Given the description of an element on the screen output the (x, y) to click on. 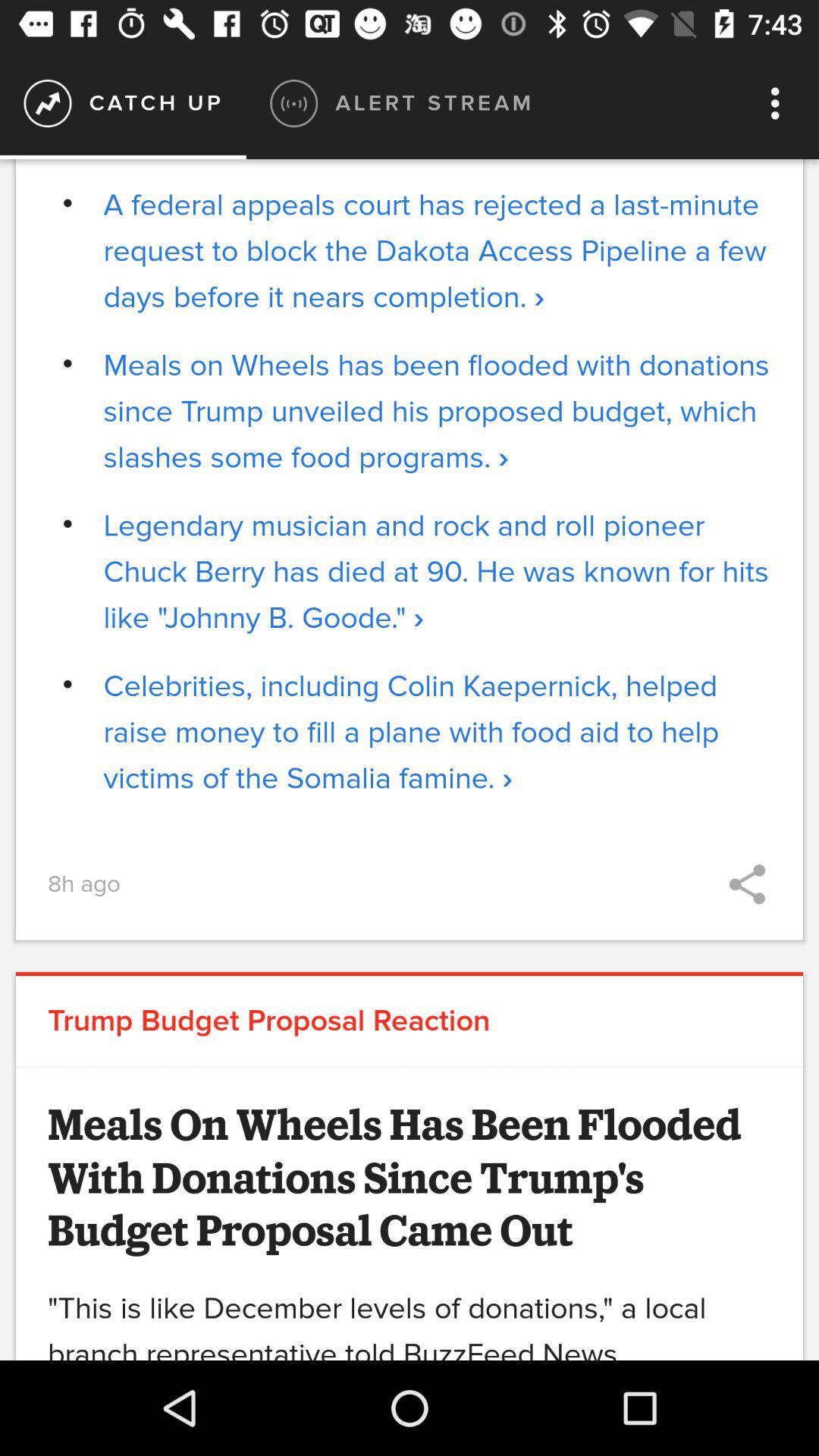
share the article (747, 884)
